Given the description of an element on the screen output the (x, y) to click on. 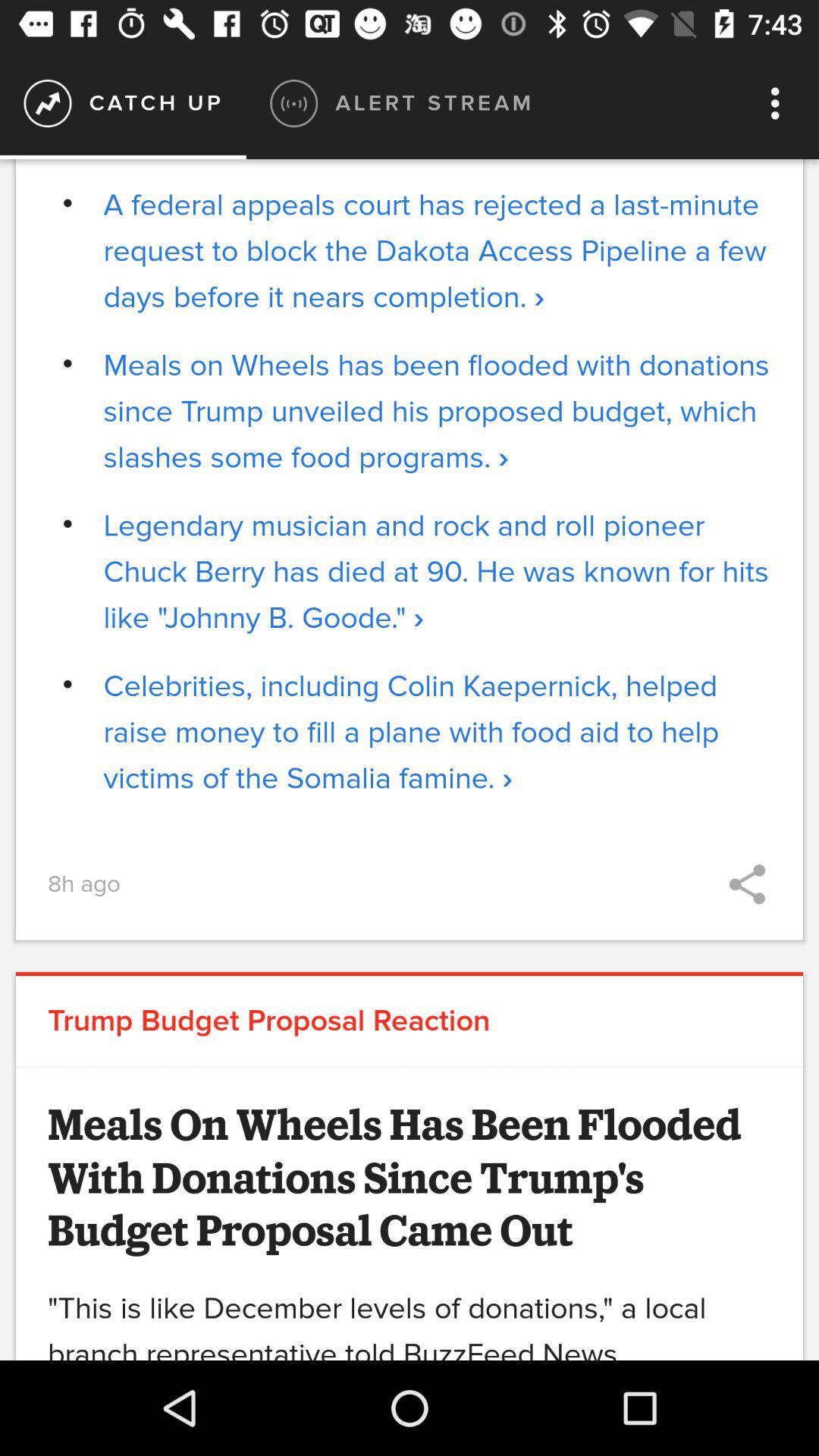
share the article (747, 884)
